Given the description of an element on the screen output the (x, y) to click on. 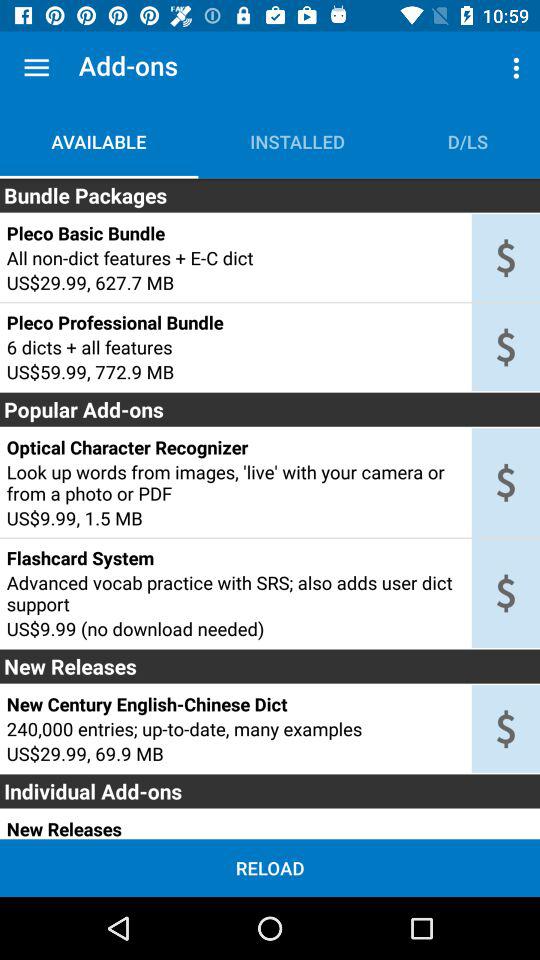
tap item below the new releases icon (235, 703)
